Given the description of an element on the screen output the (x, y) to click on. 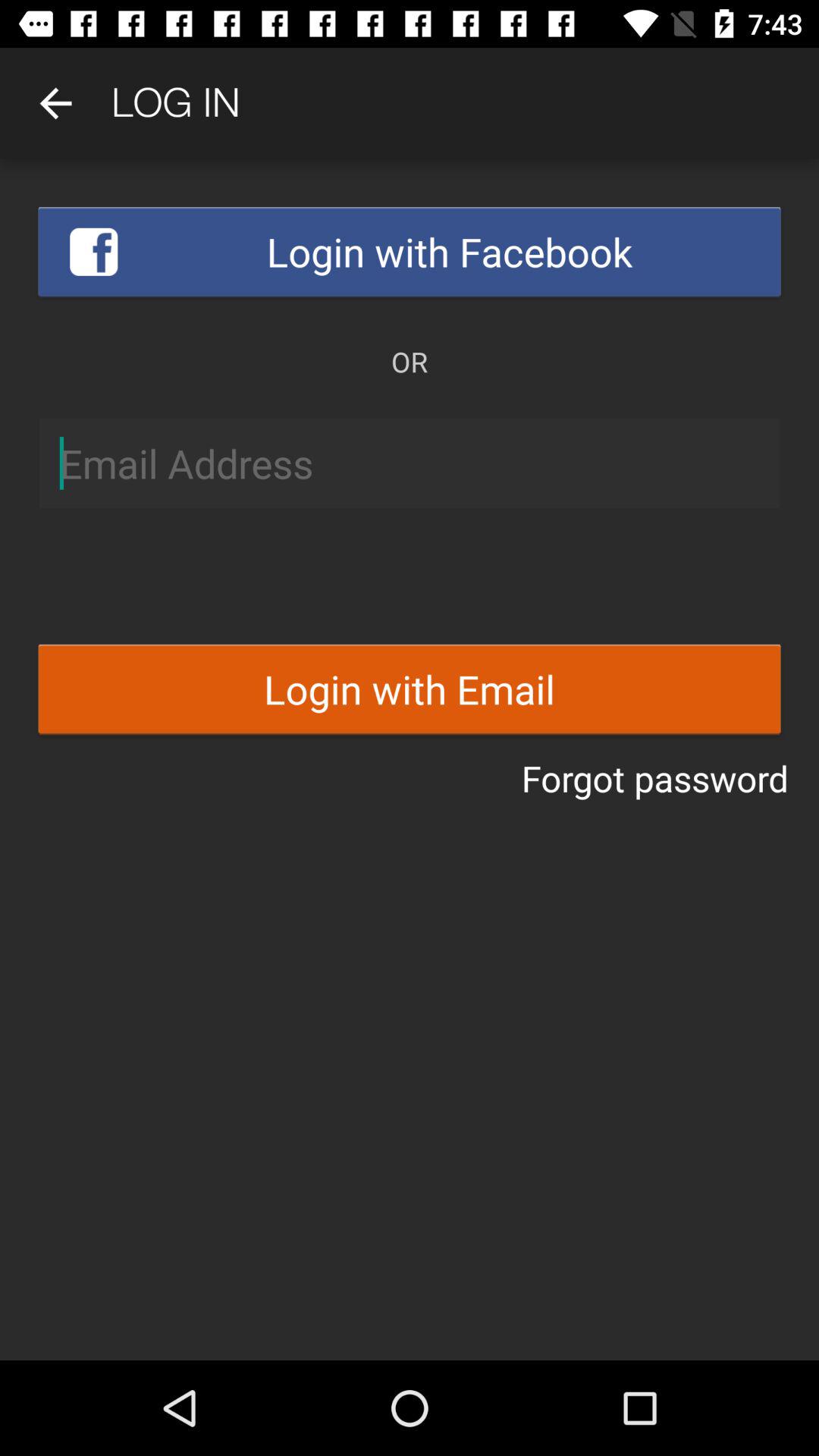
email address field (409, 463)
